Given the description of an element on the screen output the (x, y) to click on. 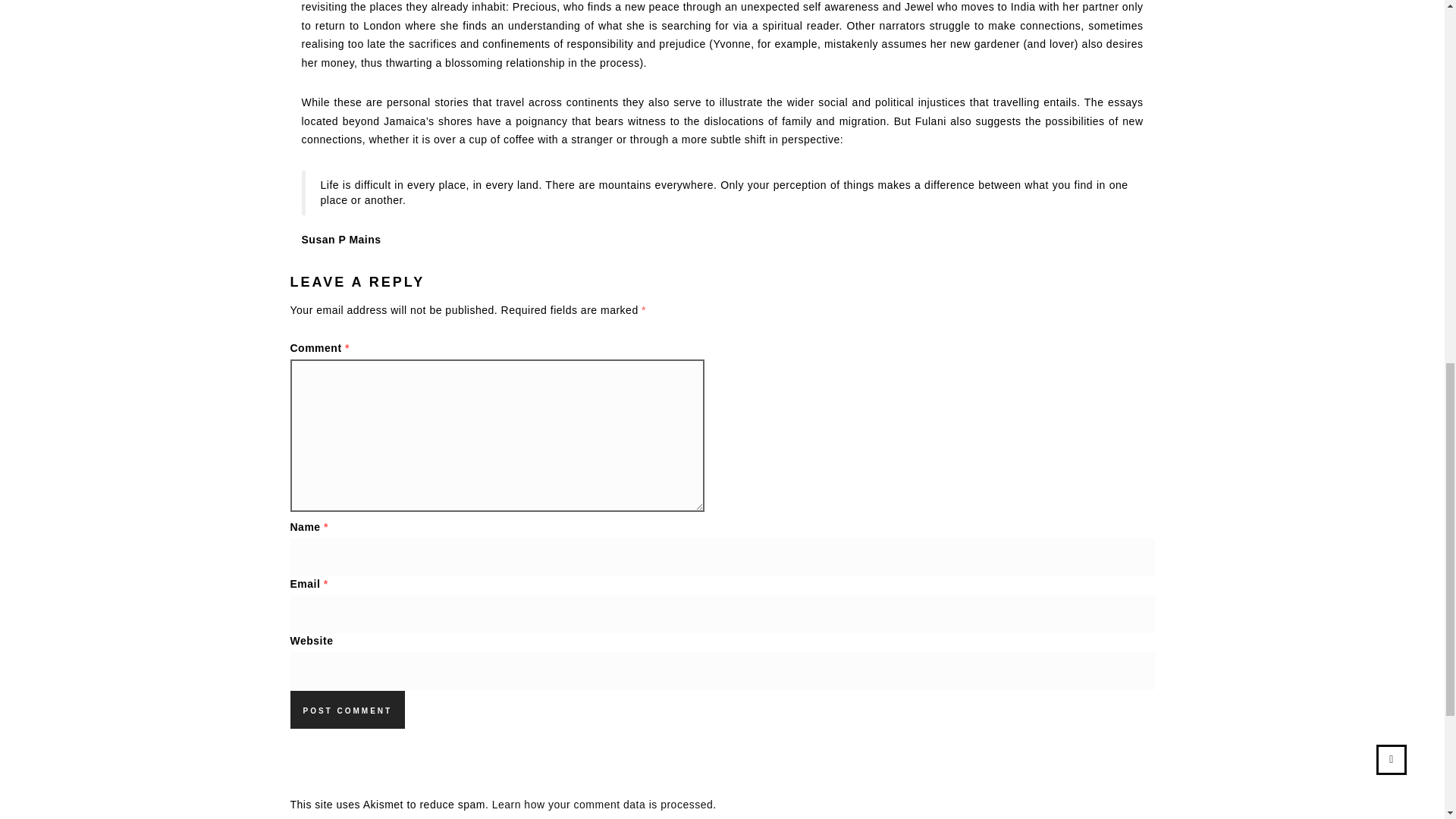
Post Comment (346, 709)
Learn how your comment data is processed (602, 804)
Post Comment (346, 709)
